Given the description of an element on the screen output the (x, y) to click on. 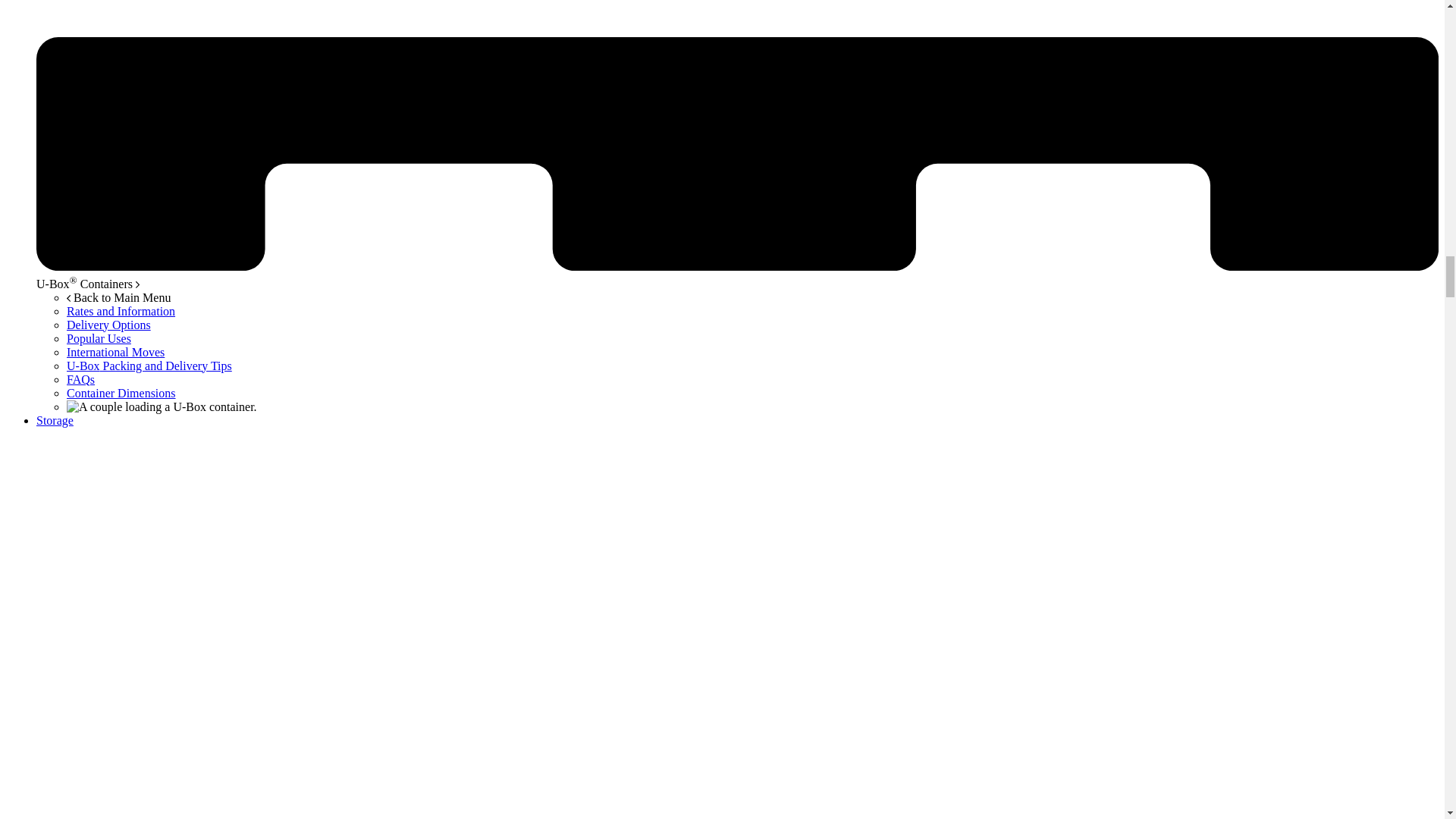
International Moves (115, 351)
Delivery Options (108, 324)
Container Dimensions (121, 392)
Rates and Information (120, 310)
Popular Uses (98, 338)
Back to Main Menu (118, 297)
U-Box Packing and Delivery Tips (148, 365)
Storage (55, 420)
FAQs (80, 379)
